Given the description of an element on the screen output the (x, y) to click on. 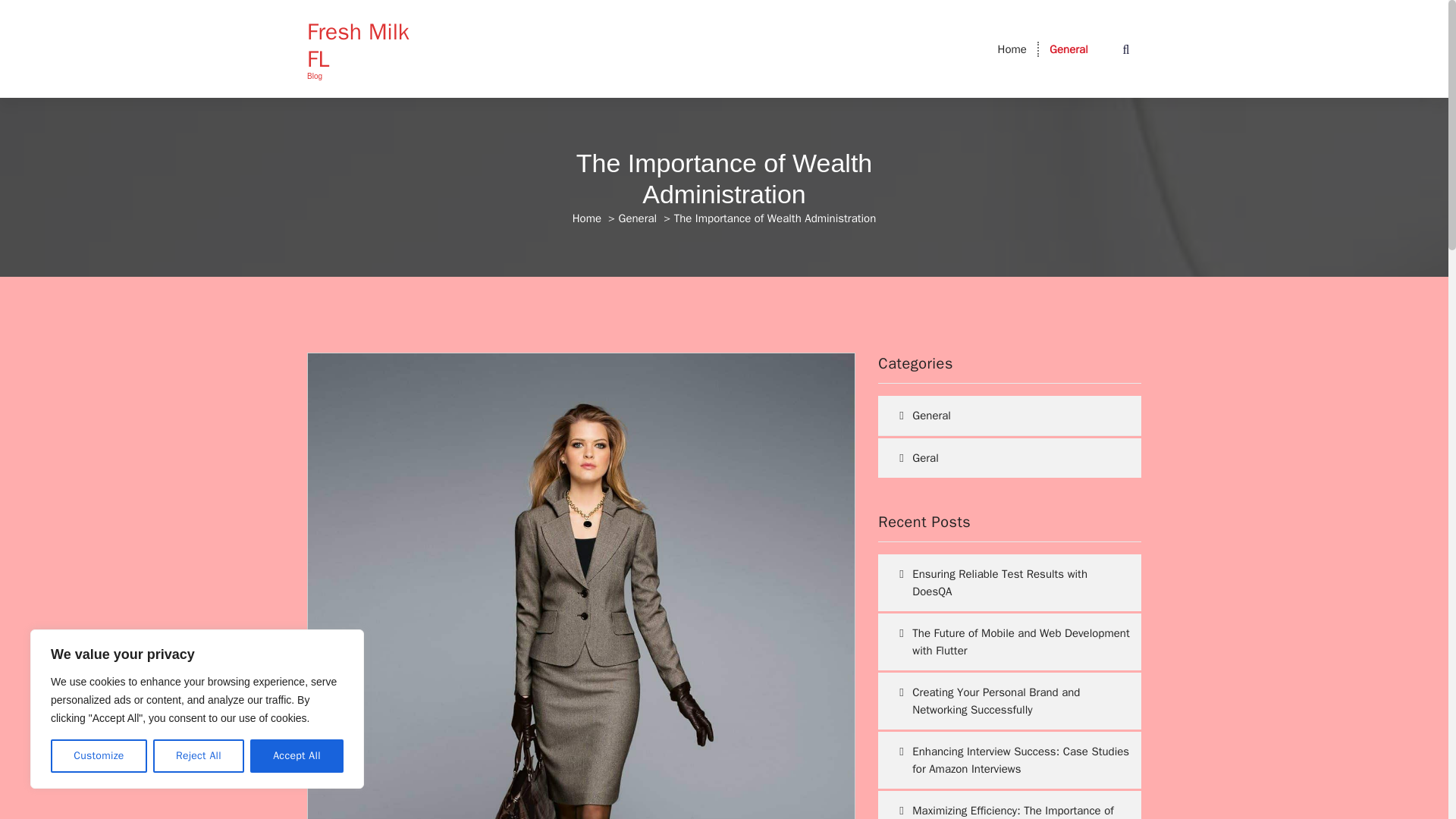
Home (1012, 49)
Customize (98, 756)
General (638, 218)
General (1068, 49)
Accept All (296, 756)
Reject All (198, 756)
Home (1012, 49)
Fresh Milk FL (366, 45)
Home (586, 218)
General (1068, 49)
